Given the description of an element on the screen output the (x, y) to click on. 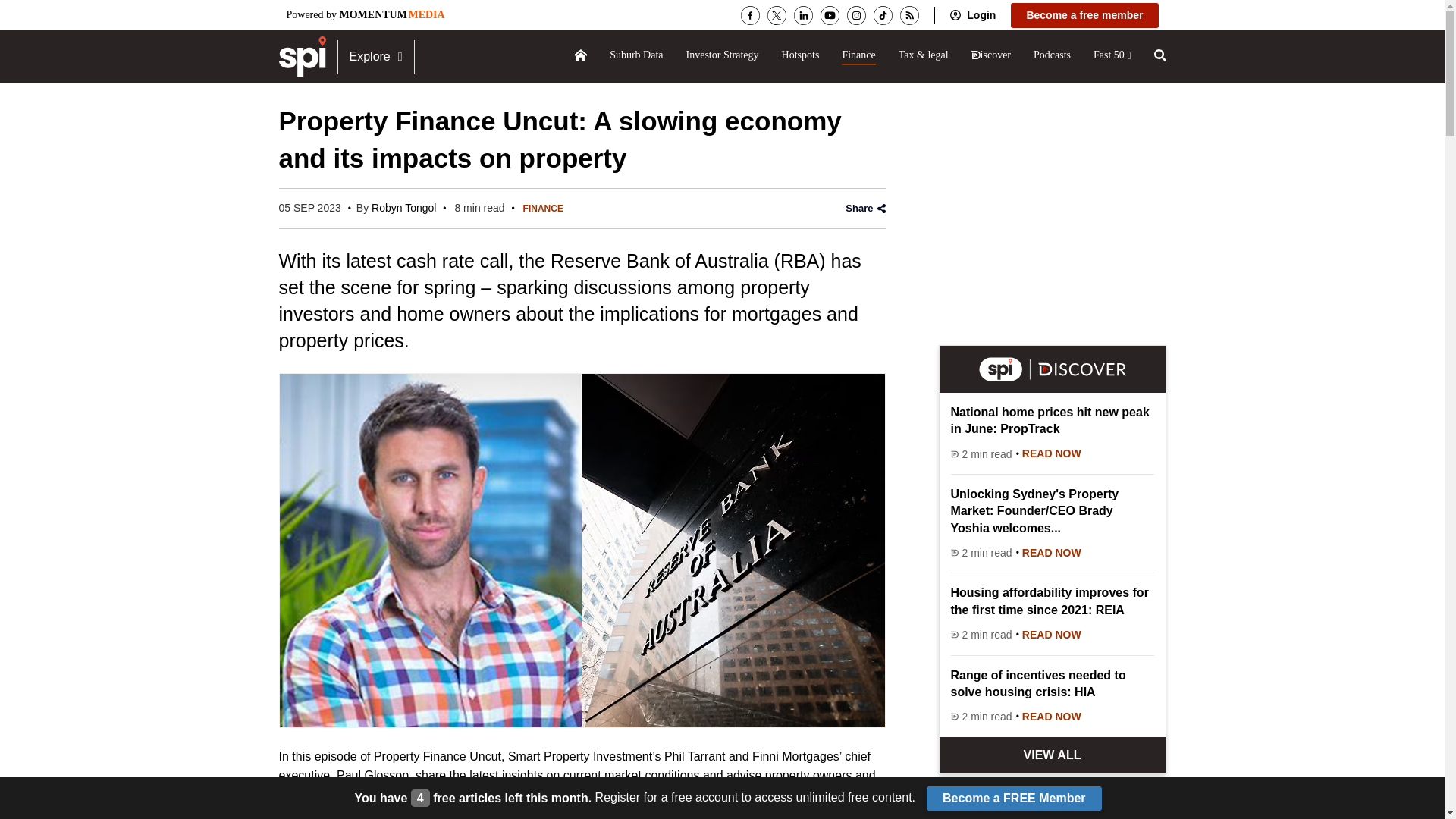
MOMENTUM MEDIA (392, 14)
Become a free member (1083, 15)
Become a free member (1083, 15)
Become a FREE Member (1014, 798)
Become a FREE Member (1014, 798)
Login (980, 15)
login (980, 15)
Explore (374, 56)
